Given the description of an element on the screen output the (x, y) to click on. 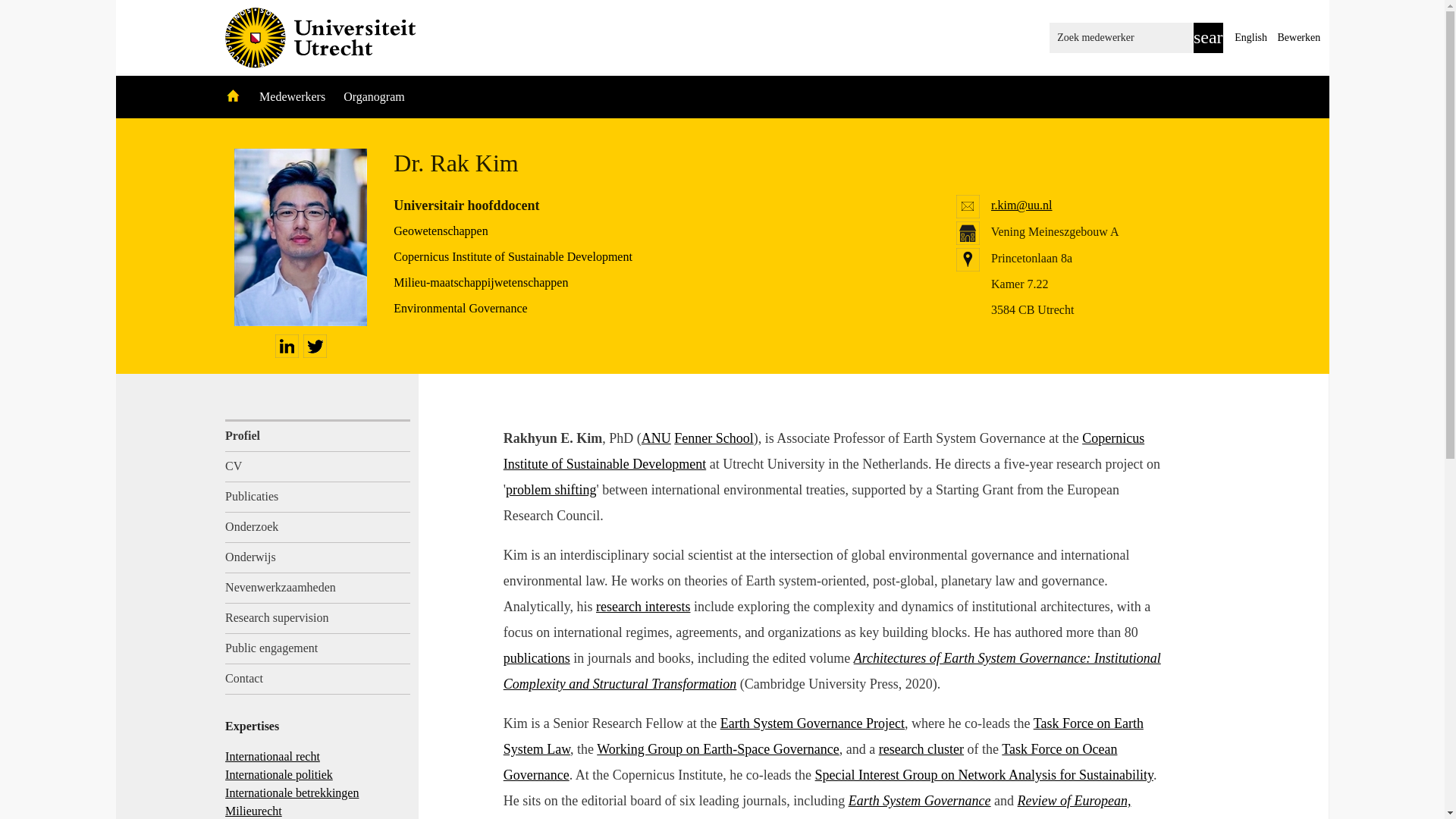
Milieu-maatschappijwetenschappen (480, 282)
LinkedIn (287, 345)
CV (317, 467)
Publicaties (317, 497)
Contact (317, 679)
English (1250, 37)
Bewerken (1298, 37)
Nevenwerkzaamheden (317, 588)
Copernicus Institute of Sustainable Development (512, 256)
Medewerkers (294, 96)
Twitter (314, 345)
Organogram (373, 96)
Geowetenschappen (440, 230)
Internationale betrekkingen (291, 792)
Public engagement (317, 648)
